Given the description of an element on the screen output the (x, y) to click on. 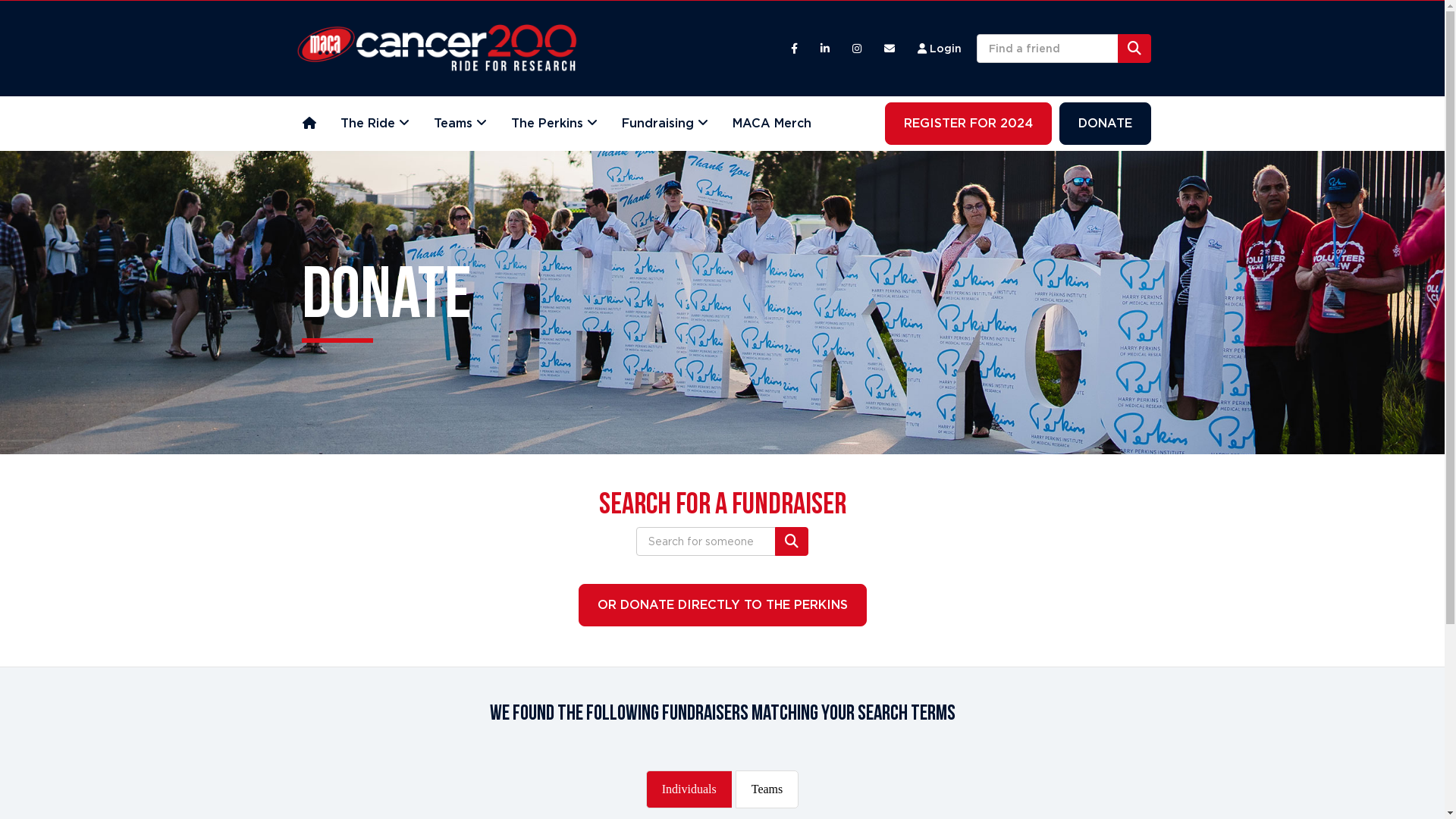
Teams Element type: text (459, 123)
REGISTER FOR 2024 Element type: text (967, 123)
Individuals Element type: text (688, 789)
Teams Element type: text (767, 789)
DONATE Element type: text (1104, 123)
Login Element type: text (938, 48)
Fundraising Element type: text (664, 123)
OR DONATE DIRECTLY TO THE PERKINS Element type: text (721, 604)
The Perkins Element type: text (553, 123)
MACA Merch Element type: text (771, 123)
The Ride Element type: text (373, 123)
